Given the description of an element on the screen output the (x, y) to click on. 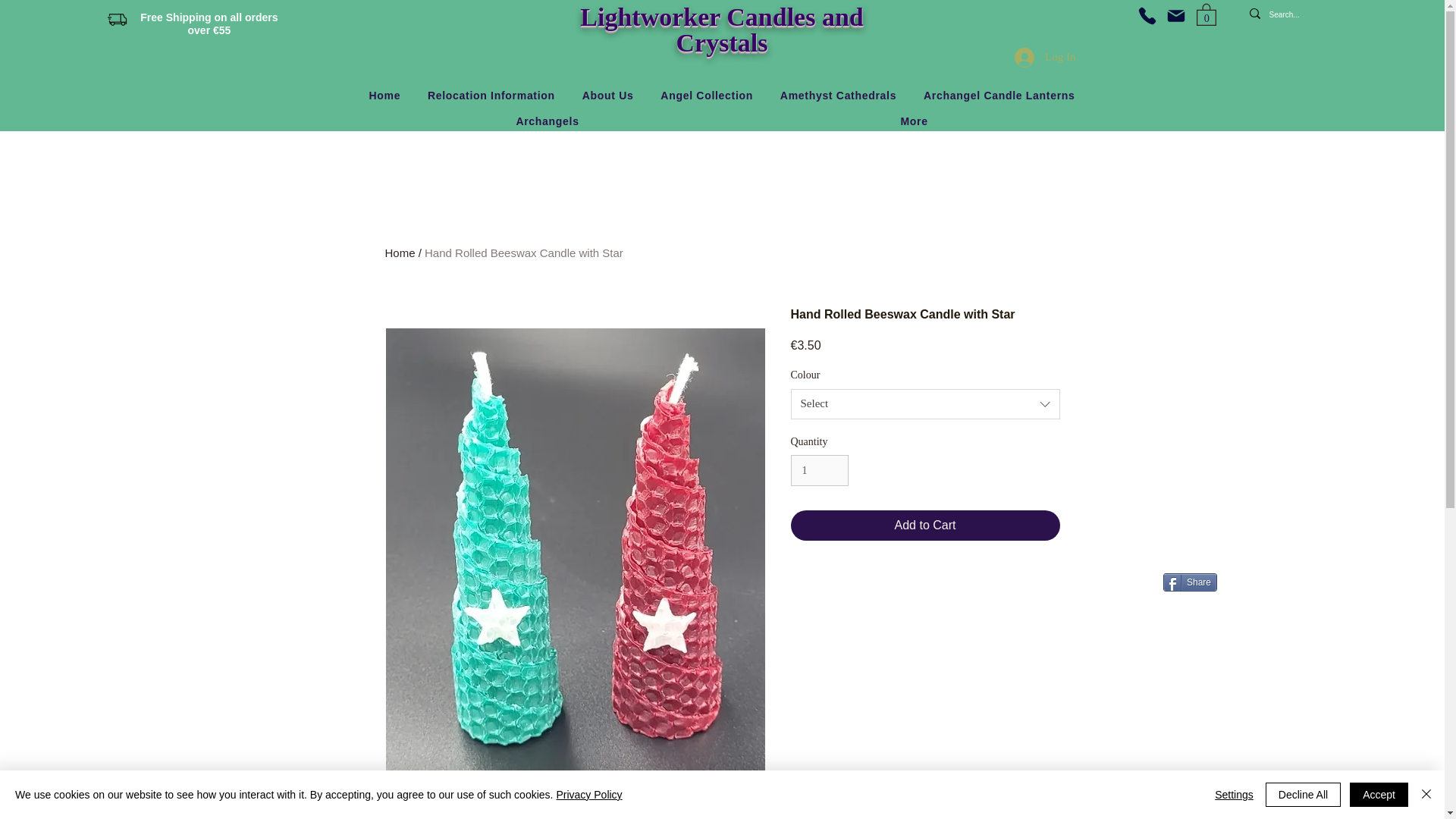
About Us (608, 95)
Relocation Information (491, 95)
Amethyst Cathedrals (838, 95)
Share (1190, 582)
Archangel Candle Lanterns (998, 95)
Home (384, 95)
1 (818, 470)
Lightworker Candles and Crystals (721, 29)
Angel Collection (705, 95)
Archangels (547, 121)
